Given the description of an element on the screen output the (x, y) to click on. 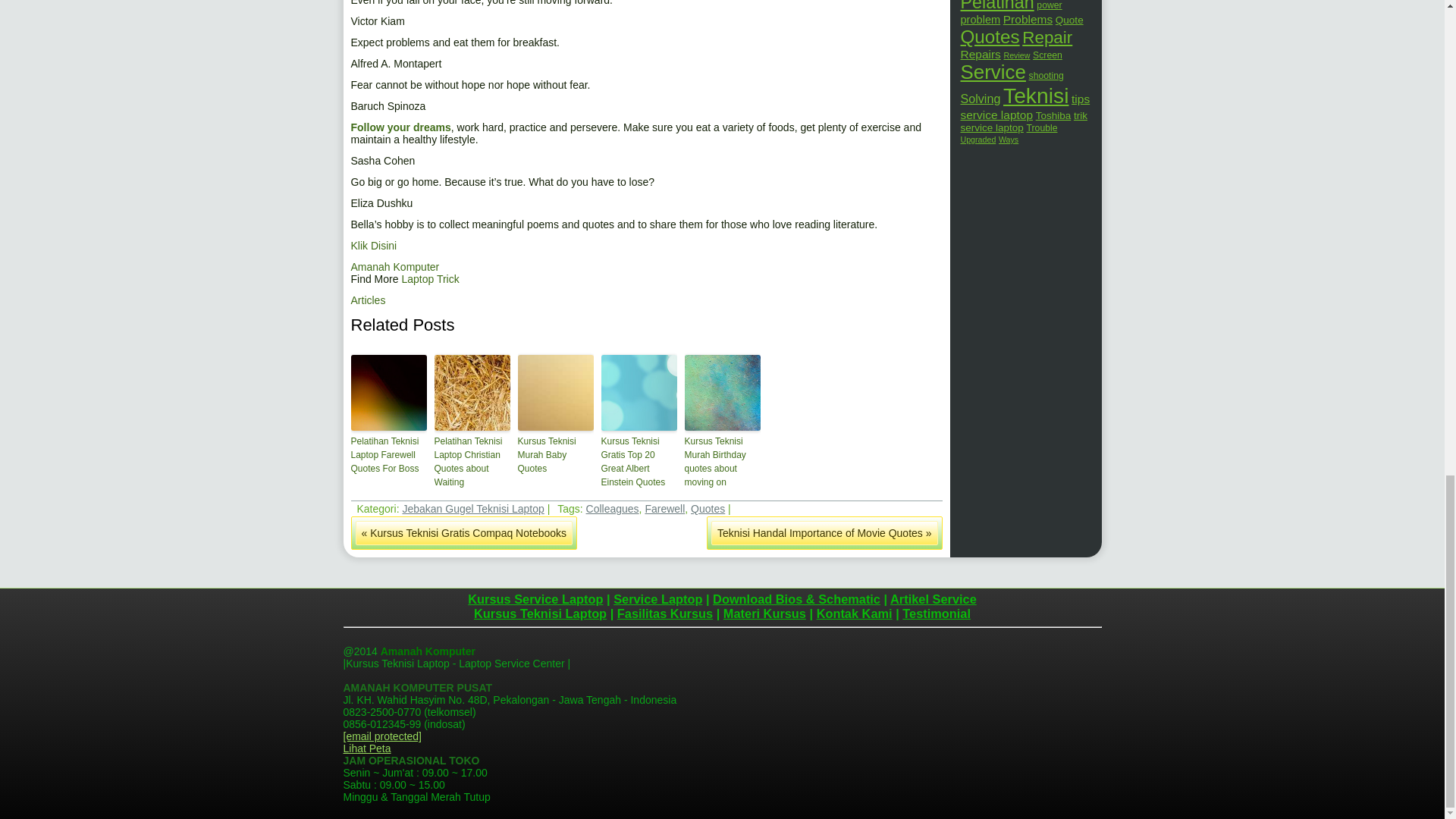
Quotes Tag (707, 508)
Fasilitas Kursus Teknisi Laptop Amanah Komputer (665, 612)
farewell colleagues  (399, 127)
Quotes (707, 508)
Kursus Service Laptop (534, 599)
Farewell (664, 508)
Kursus Teknisi Murah Baby Quotes (554, 454)
Colleagues (612, 508)
Klik Disini (373, 245)
Service Laptop (656, 599)
